Given the description of an element on the screen output the (x, y) to click on. 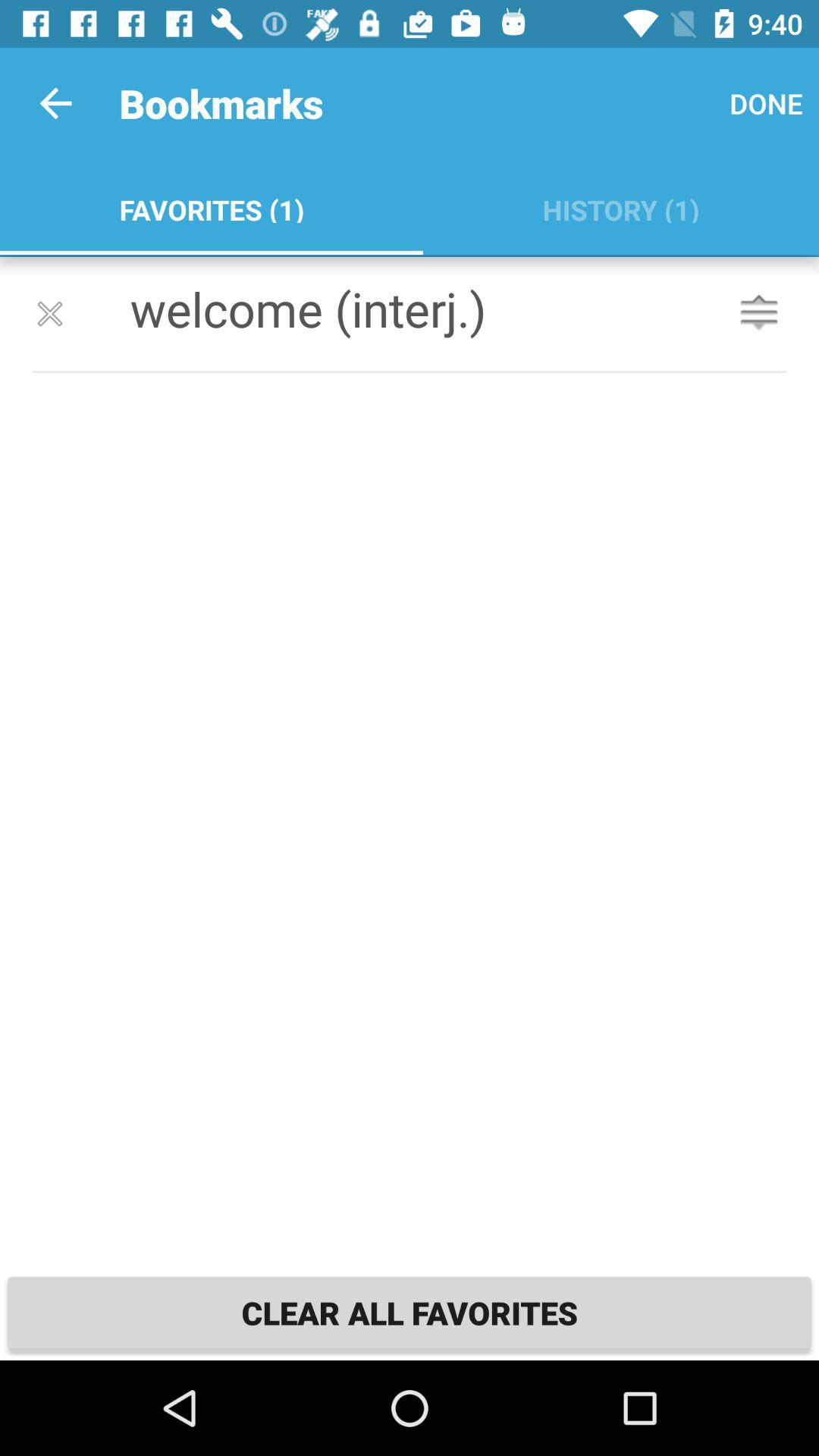
click item above history (1) icon (766, 103)
